Given the description of an element on the screen output the (x, y) to click on. 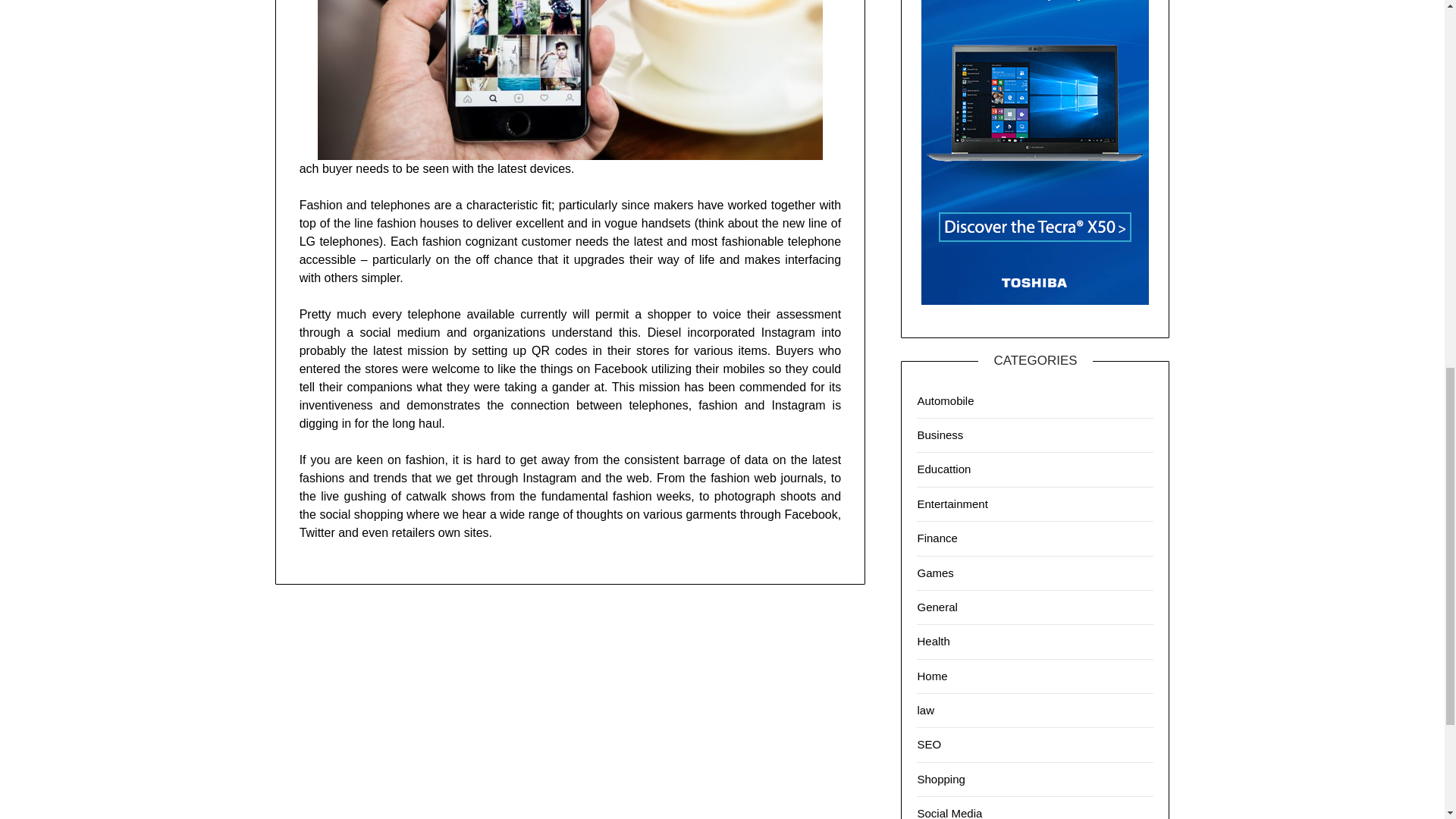
Automobile (945, 400)
Social Media (949, 812)
SEO (928, 744)
law (925, 709)
Health (933, 640)
Shopping (940, 779)
General (936, 606)
Games (935, 571)
Entertainment (952, 503)
Business (939, 434)
Educattion (944, 468)
Finance (936, 537)
Home (932, 675)
